Given the description of an element on the screen output the (x, y) to click on. 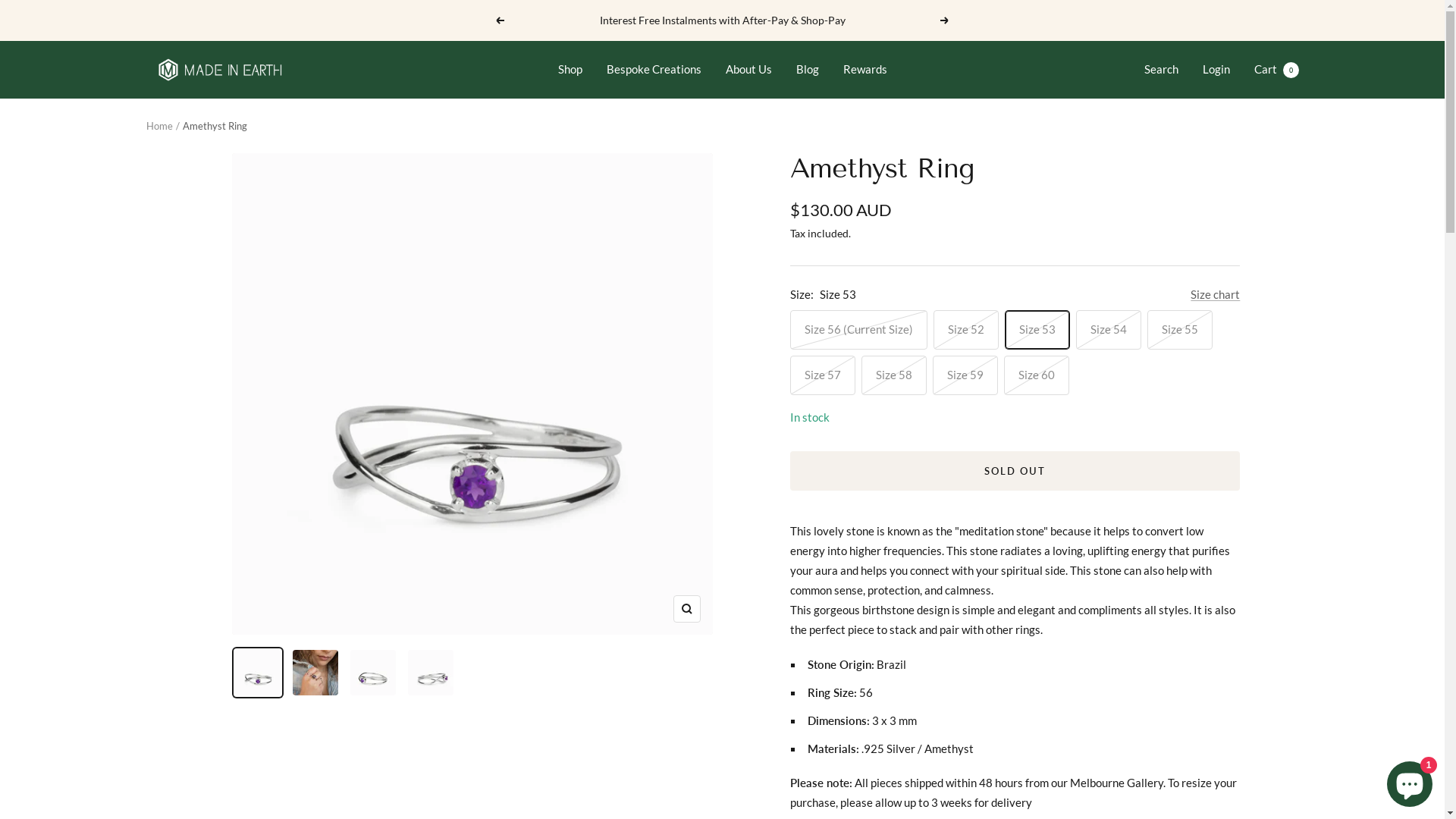
Size 56 (Current Size) Element type: text (1108, 64)
Home Element type: text (158, 125)
Bespoke Creations Element type: text (653, 68)
Size 52 Element type: text (1108, 96)
About Us Element type: text (747, 68)
Search Element type: text (1160, 68)
Size 53 Element type: text (1108, 128)
Login Element type: text (1216, 68)
Size 59 Element type: text (1108, 287)
Made in Earth Australia Element type: text (213, 69)
Cart
0 Element type: text (1276, 68)
Shop Element type: text (570, 68)
Size 54 Element type: text (1108, 159)
SOLD OUT Element type: text (1015, 470)
Size chart Element type: text (1214, 294)
Blog Element type: text (807, 68)
Shopify online store chat Element type: hover (1409, 780)
Size 58 Element type: text (1108, 255)
Next Element type: text (944, 20)
Size 57 Element type: text (1108, 223)
Size 55 Element type: text (1108, 191)
Zoom Element type: text (686, 608)
Size 60 Element type: text (1108, 319)
Previous Element type: text (499, 20)
Rewards Element type: text (865, 68)
